Given the description of an element on the screen output the (x, y) to click on. 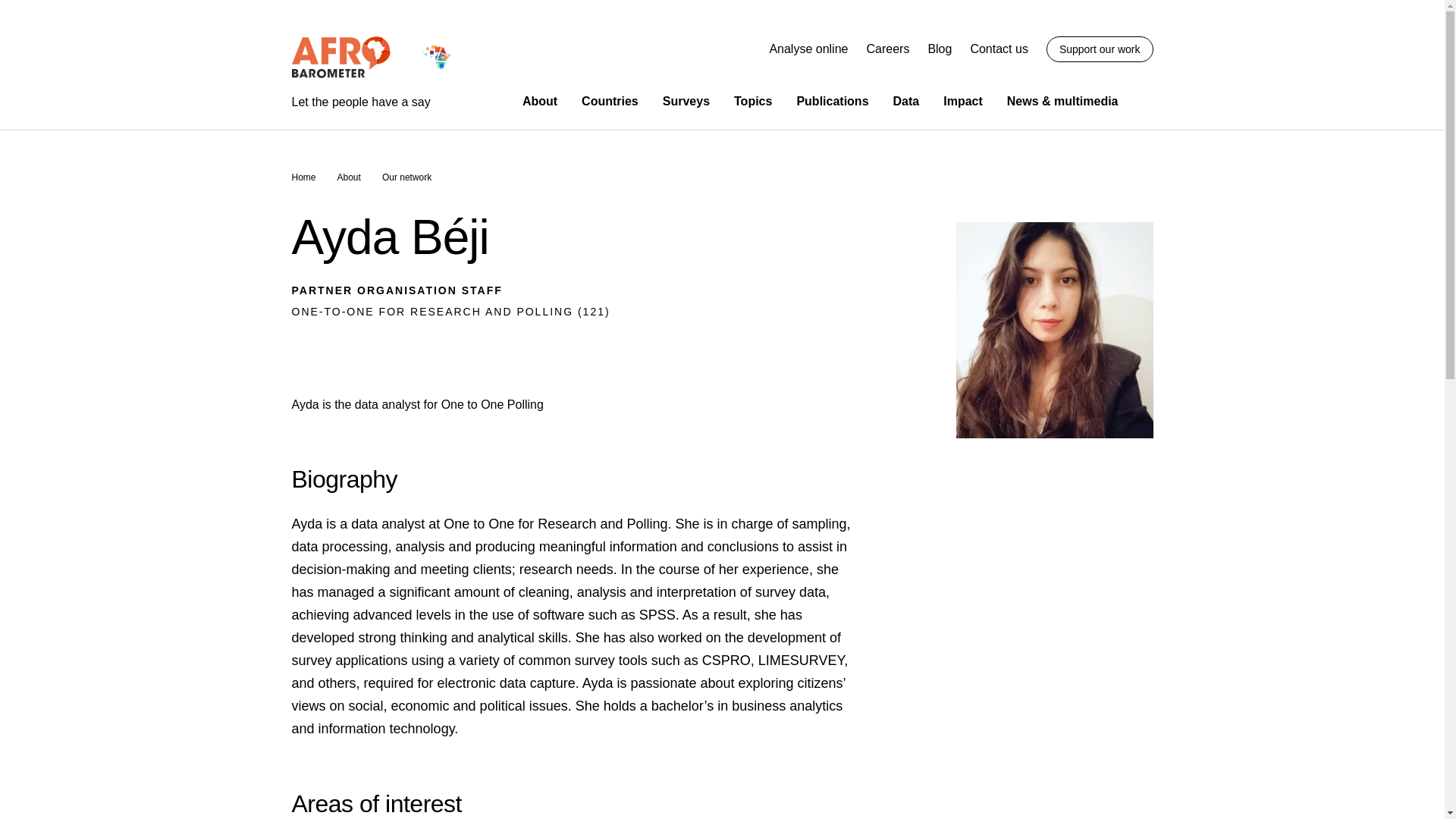
Surveys (686, 101)
About (539, 101)
Analyse online (807, 48)
Topics (752, 101)
Go to homepage (373, 73)
Support our work (1099, 49)
Countries (609, 101)
Careers (887, 48)
Contact us (998, 48)
Blog (939, 48)
Publications (831, 101)
